Given the description of an element on the screen output the (x, y) to click on. 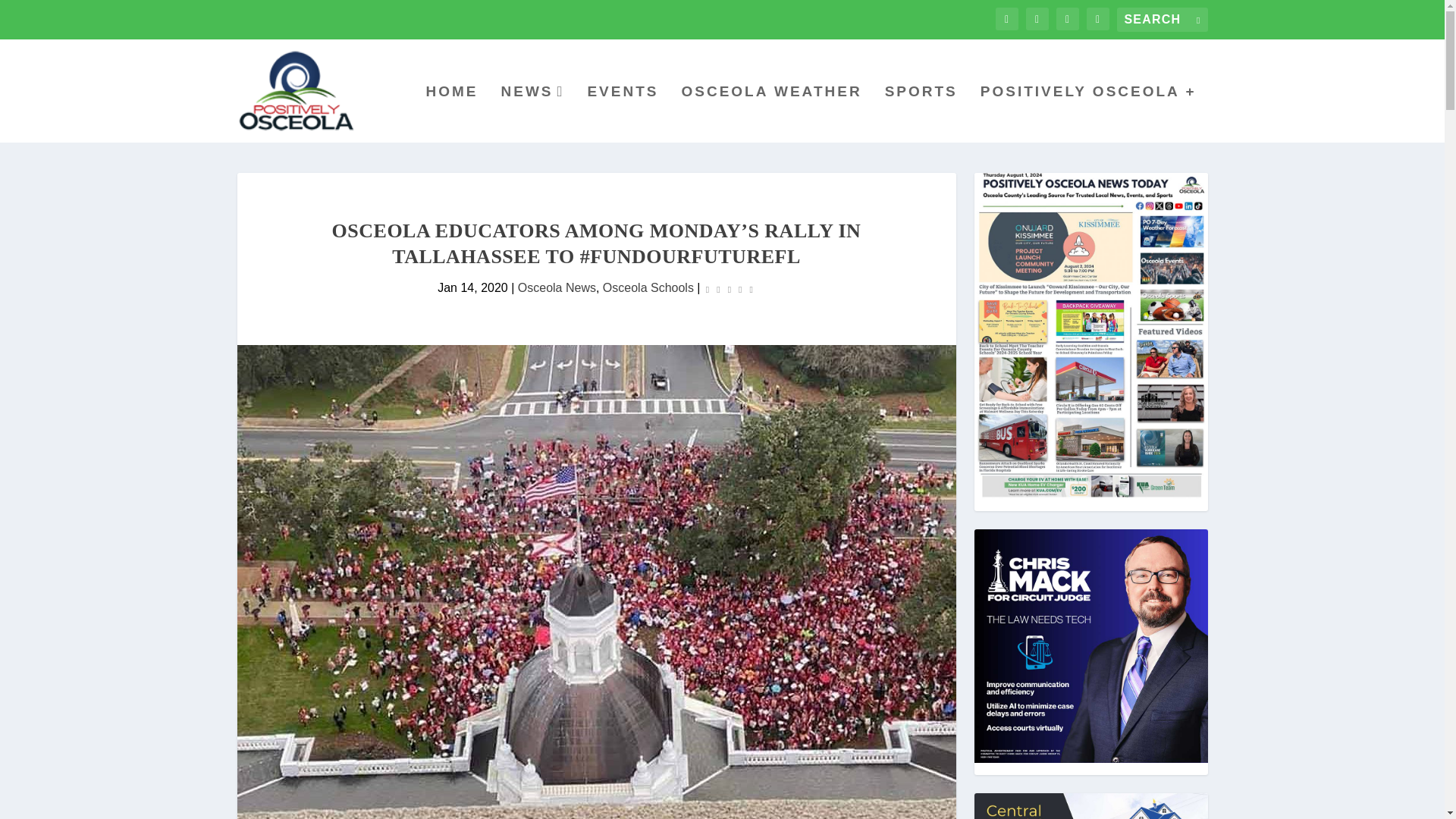
SPORTS (921, 113)
Rating: 0.00 (729, 288)
HOME (451, 113)
NEWS (532, 113)
Search for: (1161, 19)
OSCEOLA WEATHER (771, 113)
Osceola Schools (648, 287)
EVENTS (622, 113)
Osceola News (556, 287)
